Given the description of an element on the screen output the (x, y) to click on. 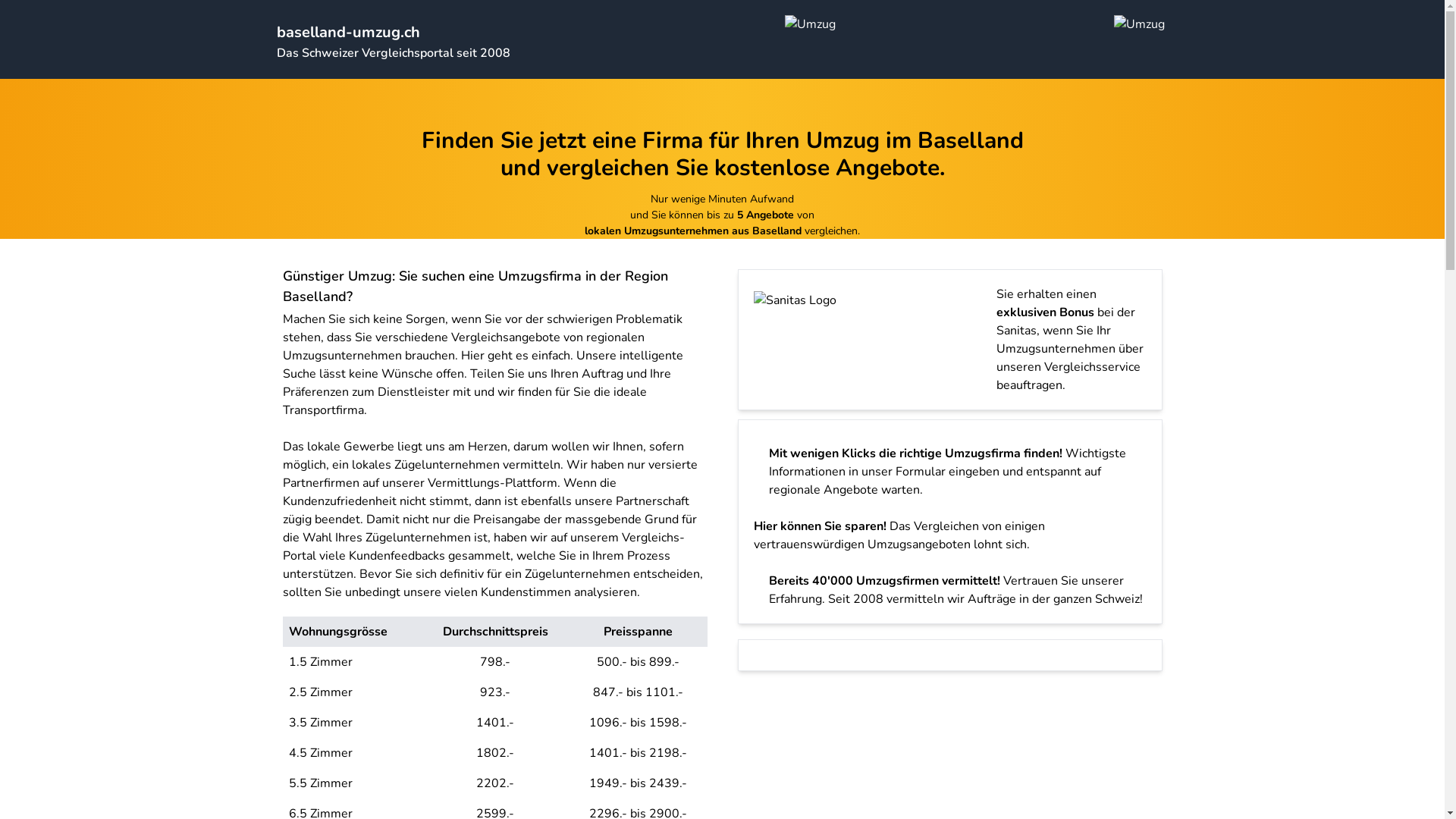
baselland-umzug.ch Element type: text (347, 31)
